Given the description of an element on the screen output the (x, y) to click on. 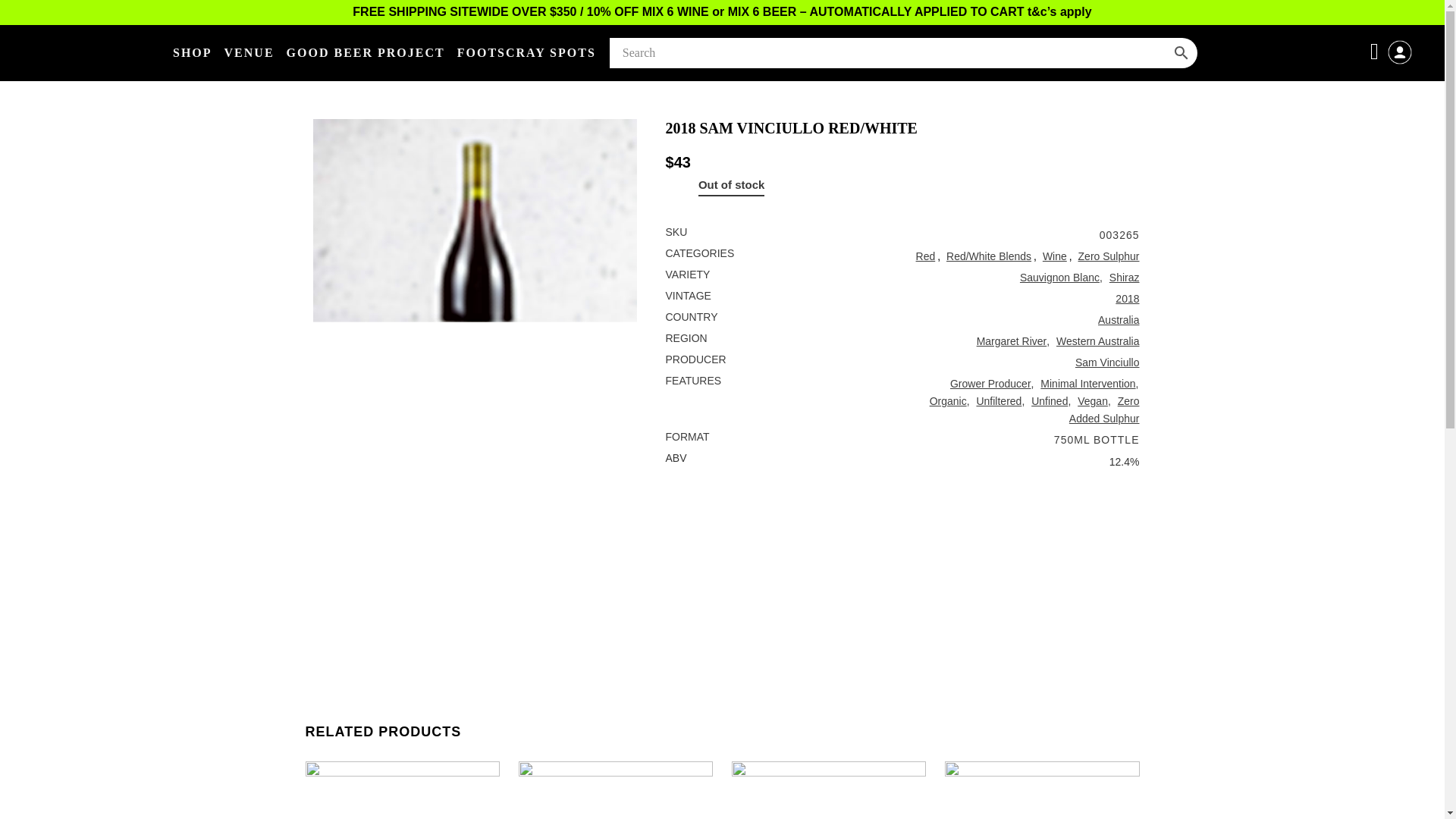
FOOTSCRAY SPOTS (526, 53)
GOOD BEER PROJECT (366, 53)
SHOP (192, 53)
account (1399, 52)
account (1399, 62)
VENUE (249, 53)
Mr-West-Wine-00394 (474, 280)
My Cart (1378, 50)
